Given the description of an element on the screen output the (x, y) to click on. 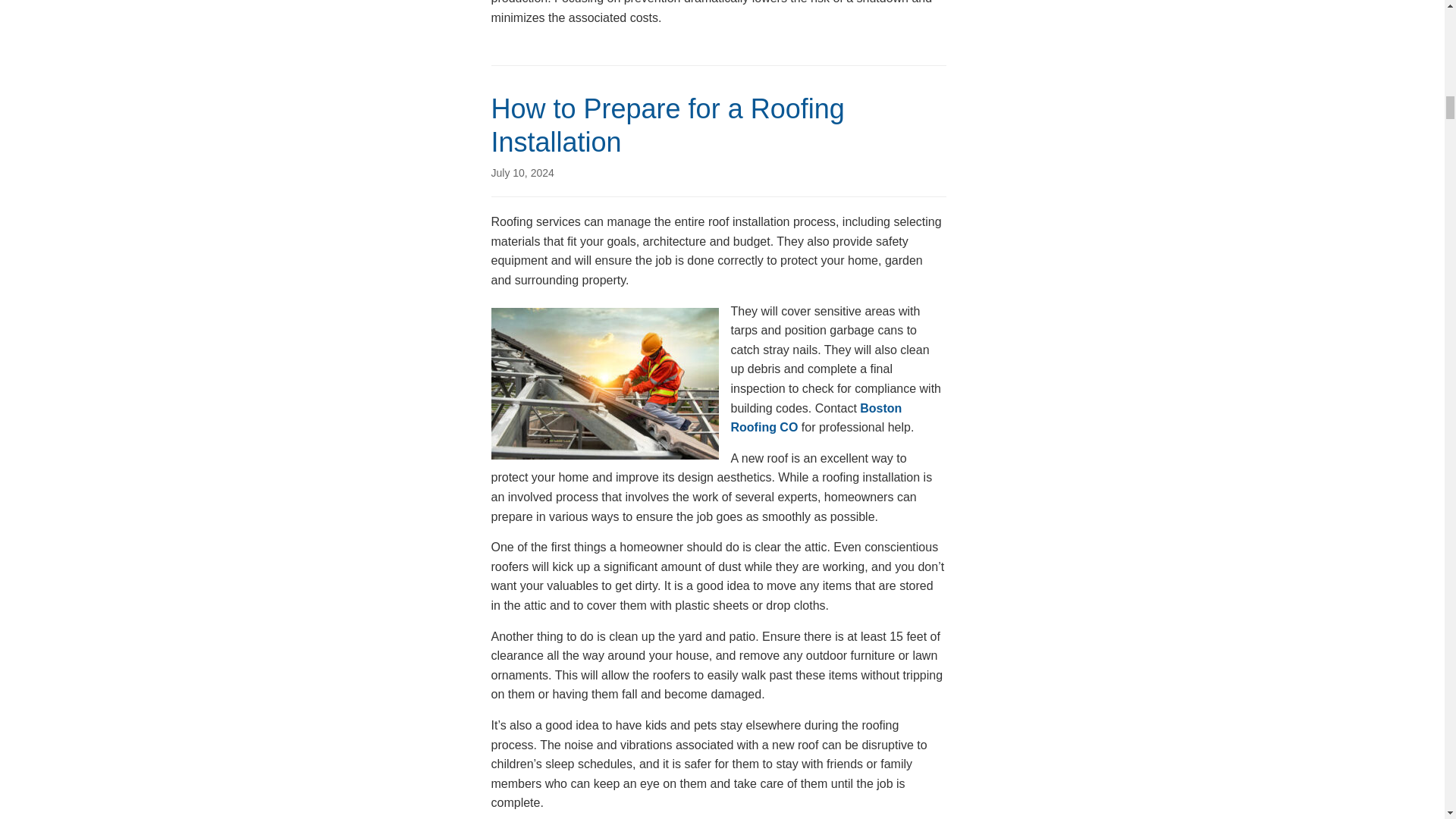
How to Prepare for a Roofing Installation (668, 125)
July 10, 2024 (523, 173)
Boston Roofing CO (816, 418)
Permanent Link to How to Prepare for a Roofing Installation (523, 173)
